Given the description of an element on the screen output the (x, y) to click on. 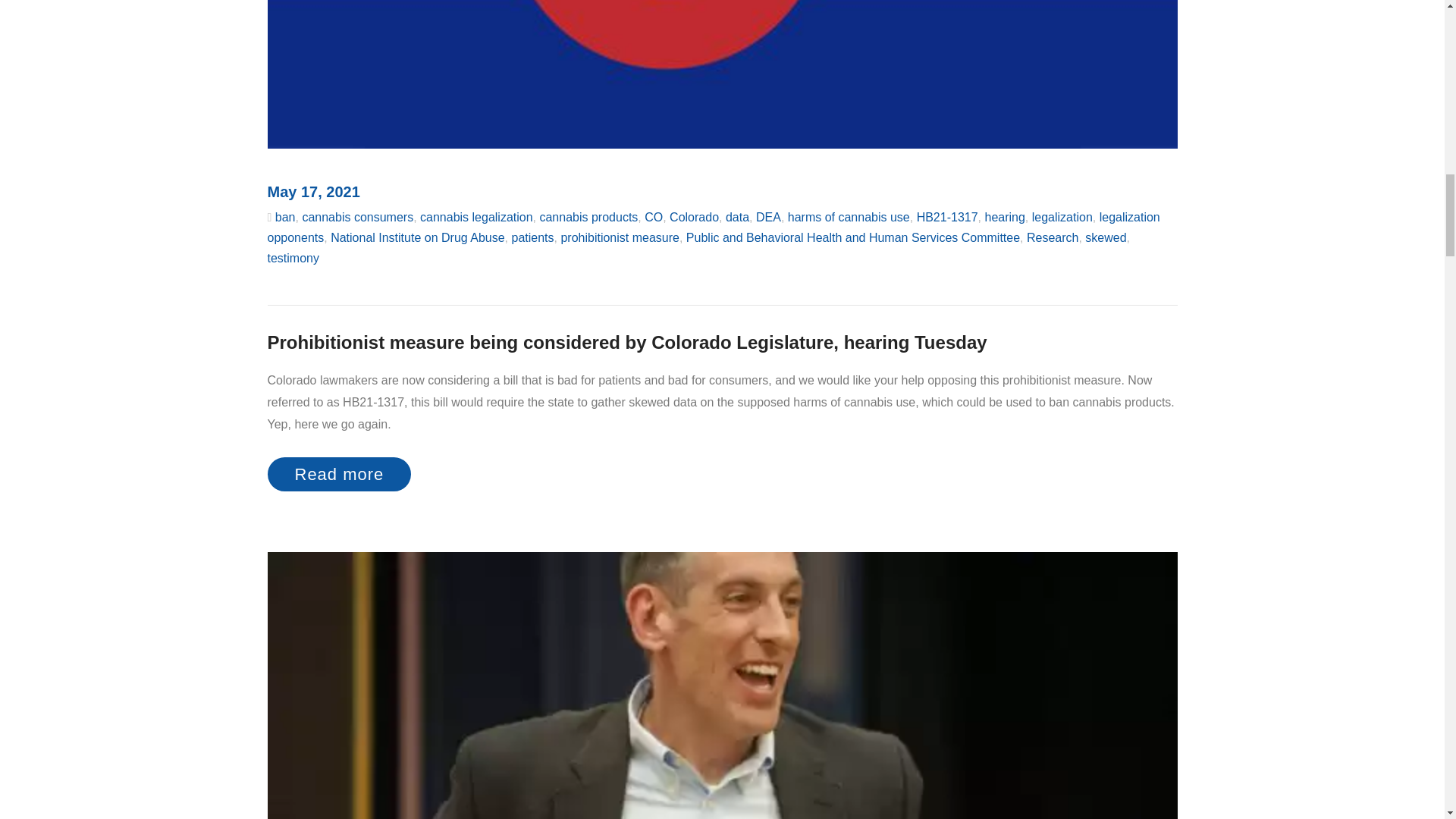
data (737, 216)
harms of cannabis use (848, 216)
CO (653, 216)
legalization opponents (712, 227)
DEA (767, 216)
HB21-1317 (947, 216)
ban (285, 216)
legalization (1062, 216)
cannabis consumers (357, 216)
cannabis legalization (476, 216)
patients (532, 237)
cannabis products (587, 216)
hearing (1004, 216)
Colorado (694, 216)
National Institute on Drug Abuse (416, 237)
